Given the description of an element on the screen output the (x, y) to click on. 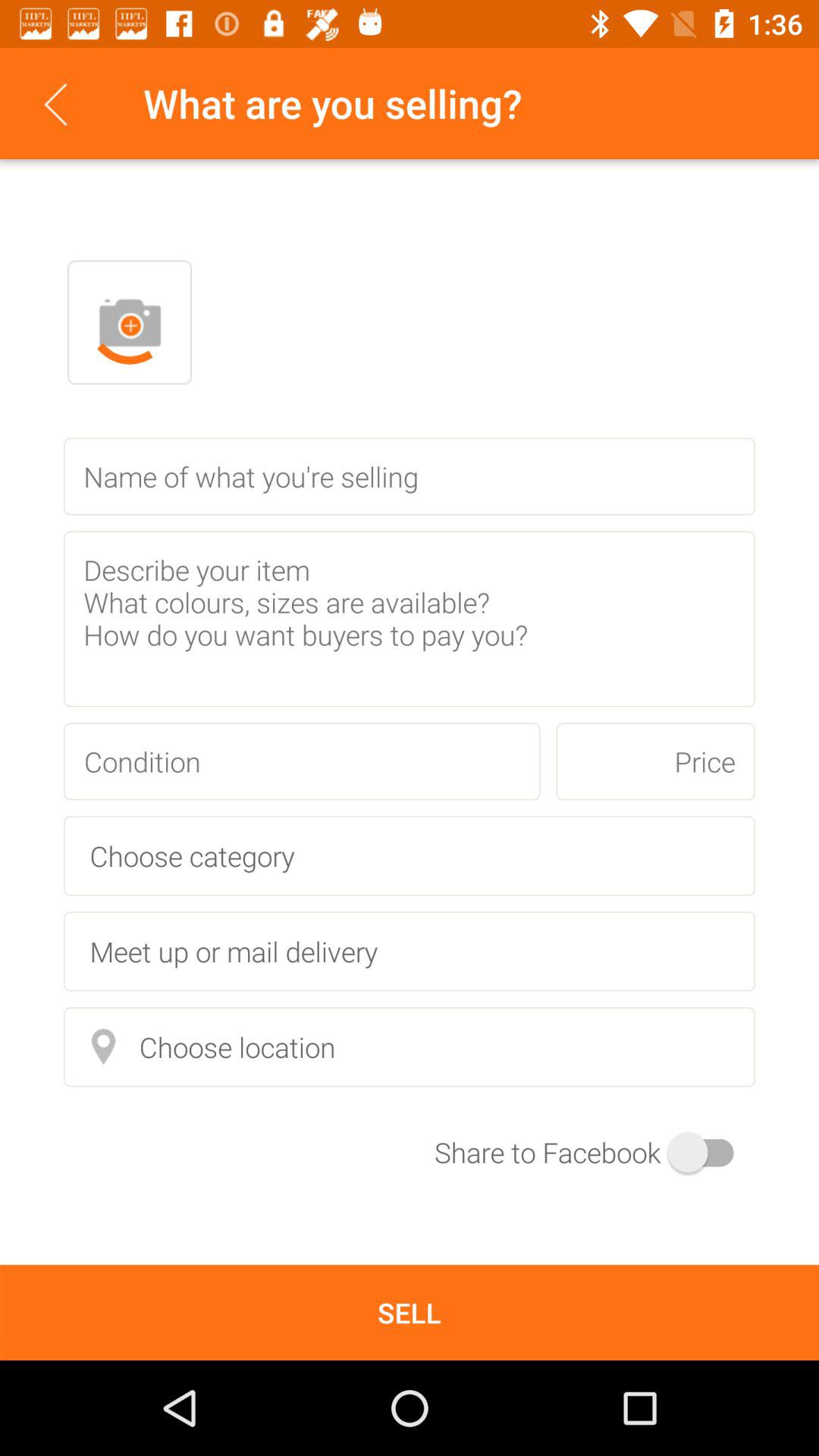
jump to choose location (409, 1046)
